Given the description of an element on the screen output the (x, y) to click on. 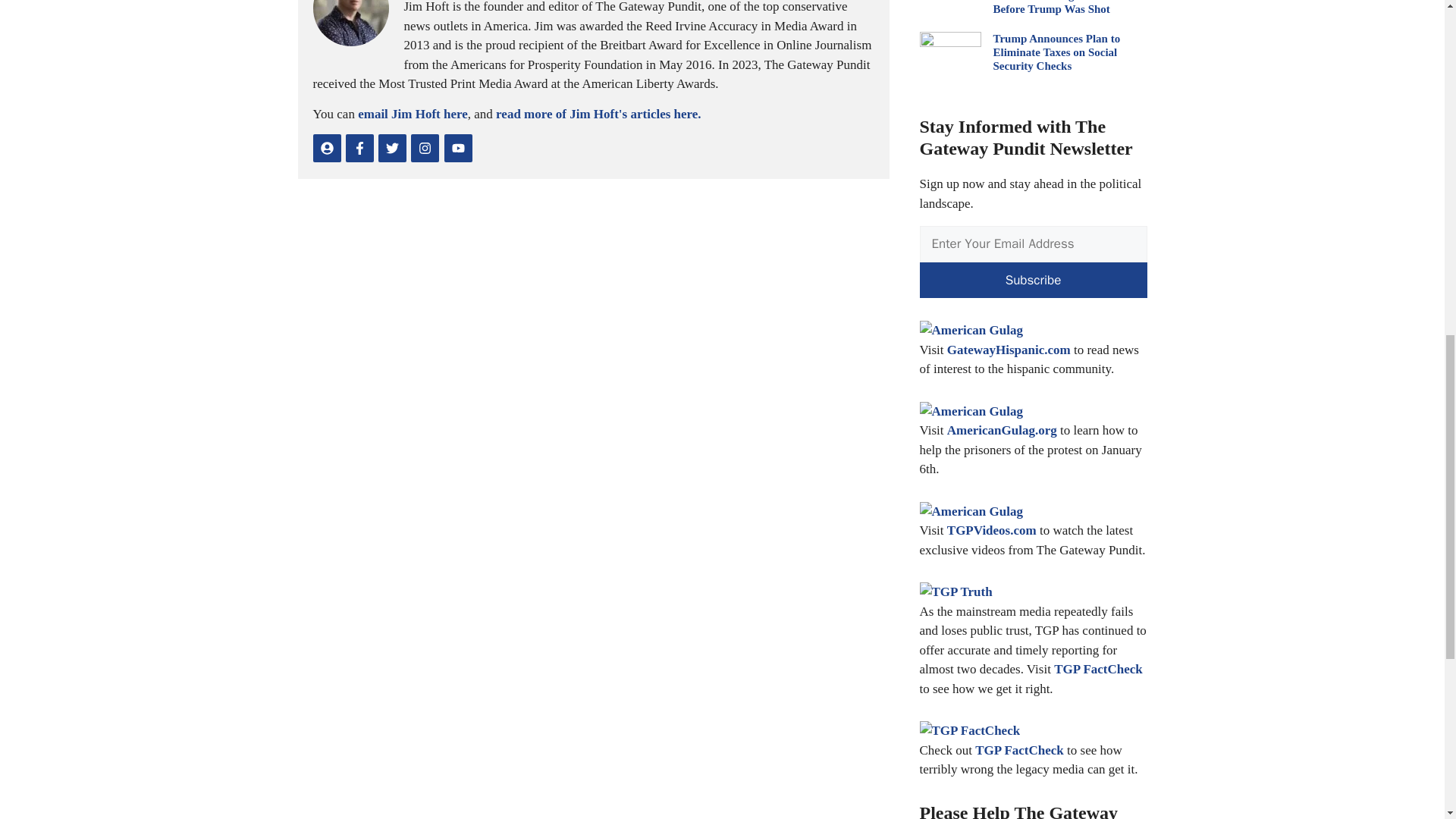
Subscribe (1032, 280)
